Given the description of an element on the screen output the (x, y) to click on. 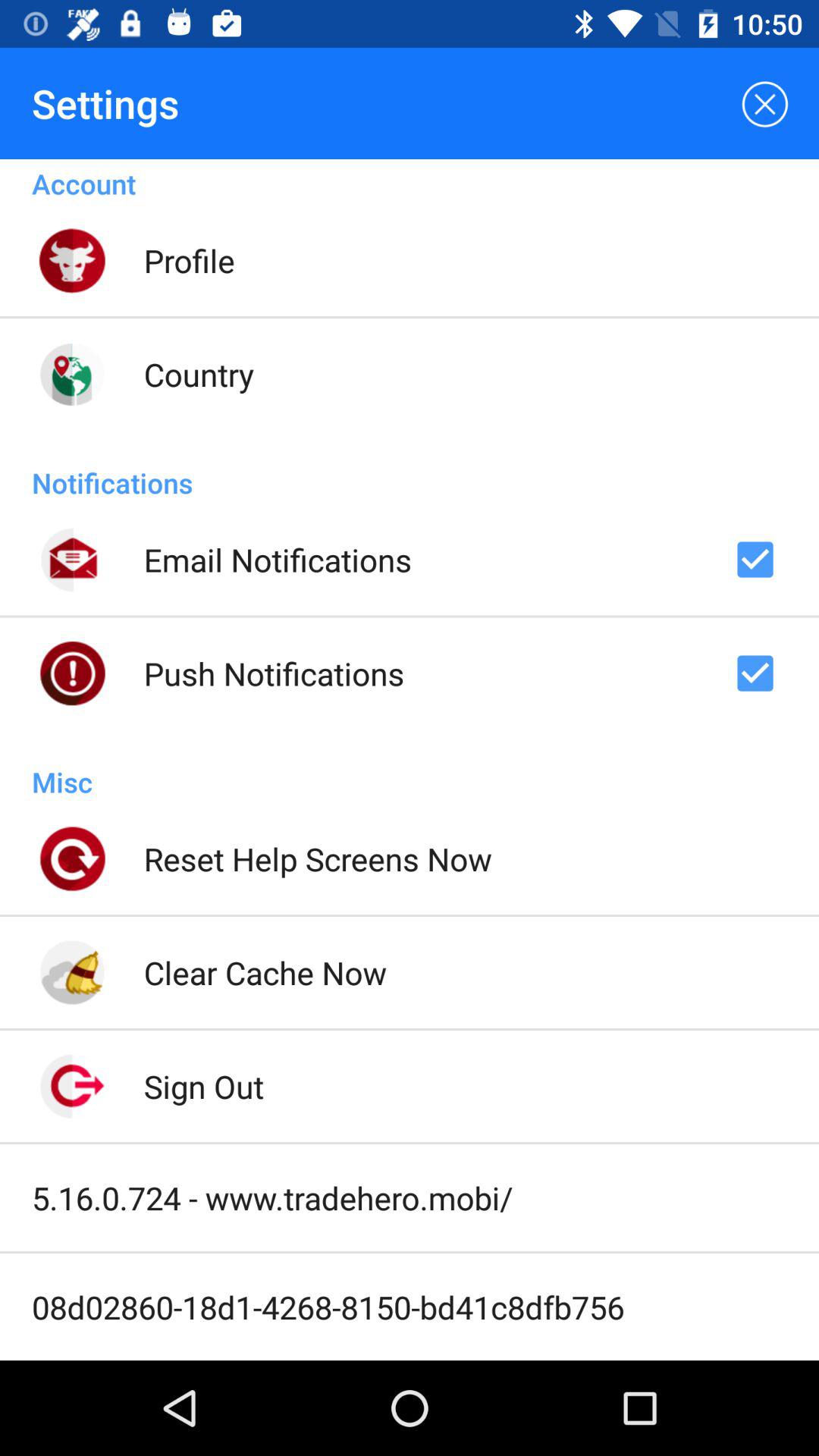
turn on the icon above the misc (273, 673)
